Given the description of an element on the screen output the (x, y) to click on. 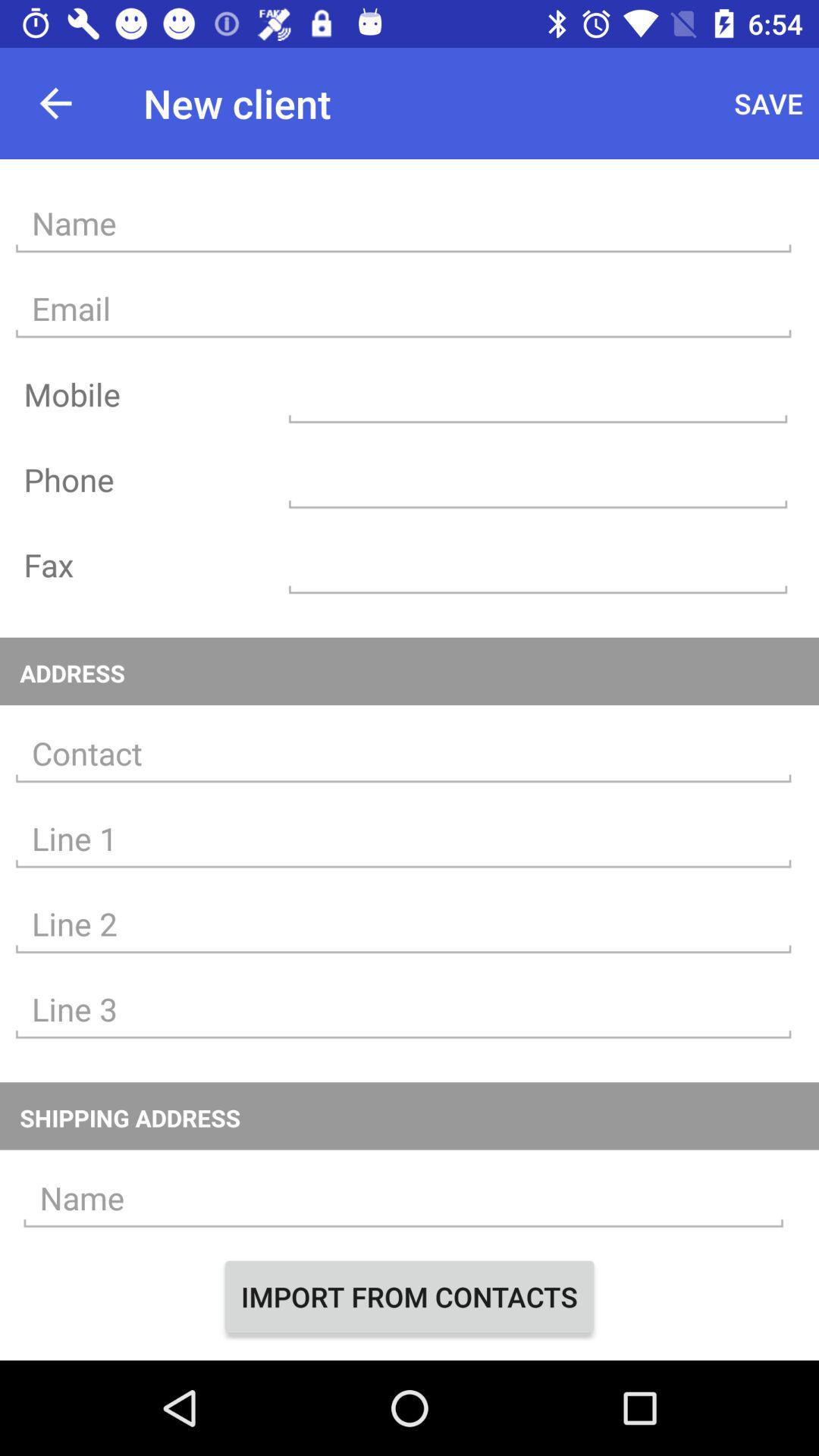
enter an address into line 3 (403, 1009)
